Given the description of an element on the screen output the (x, y) to click on. 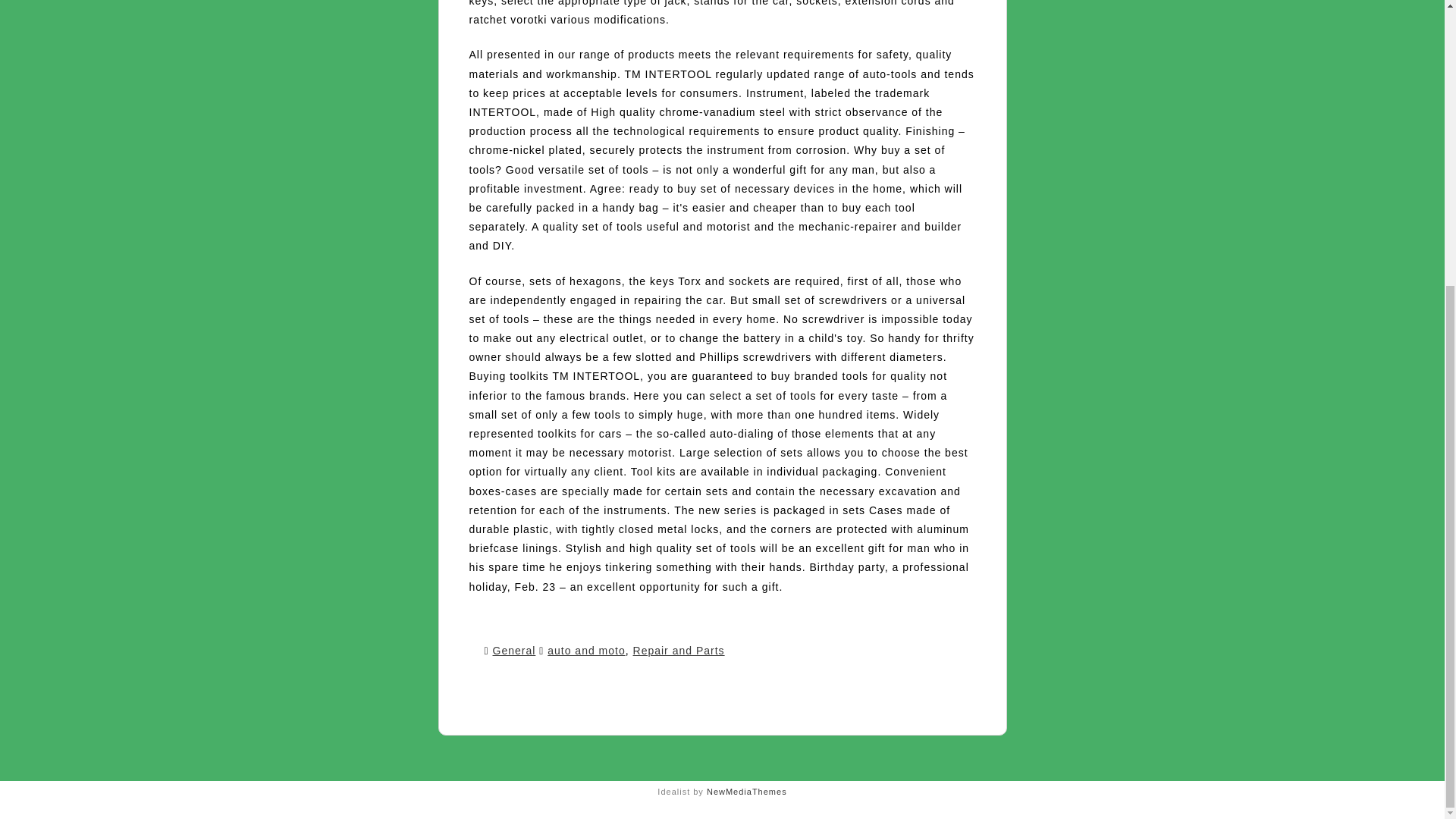
auto and moto (586, 650)
Repair and Parts (679, 650)
NewMediaThemes (746, 791)
General (514, 650)
